Given the description of an element on the screen output the (x, y) to click on. 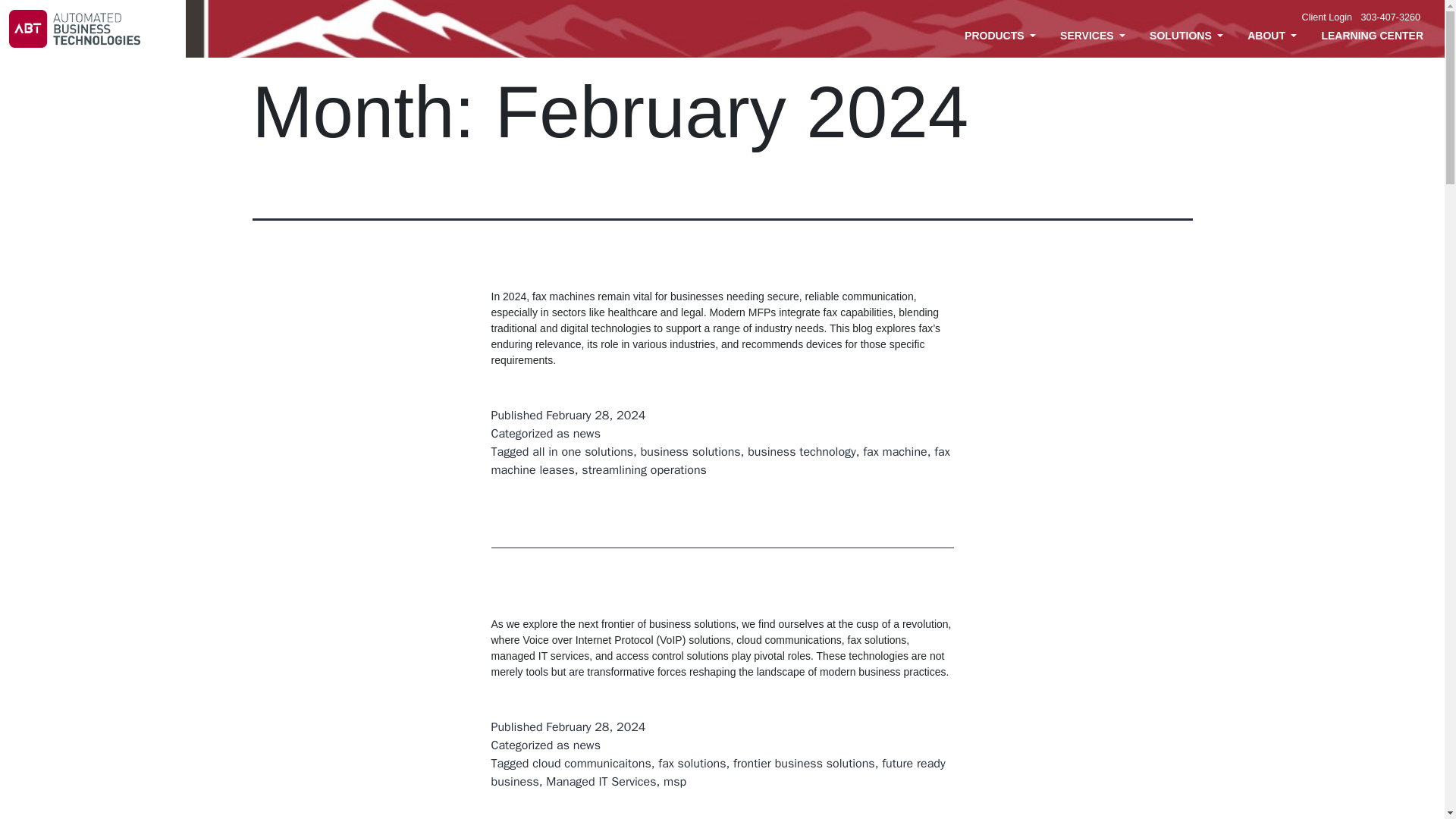
PRODUCTS (999, 36)
all in one solutions (582, 451)
303-407-3260 (1390, 17)
LEARNING CENTER (1371, 36)
Client Login (1326, 17)
news (586, 433)
ABOUT (1272, 36)
SOLUTIONS (1186, 36)
SERVICES (1092, 36)
